Given the description of an element on the screen output the (x, y) to click on. 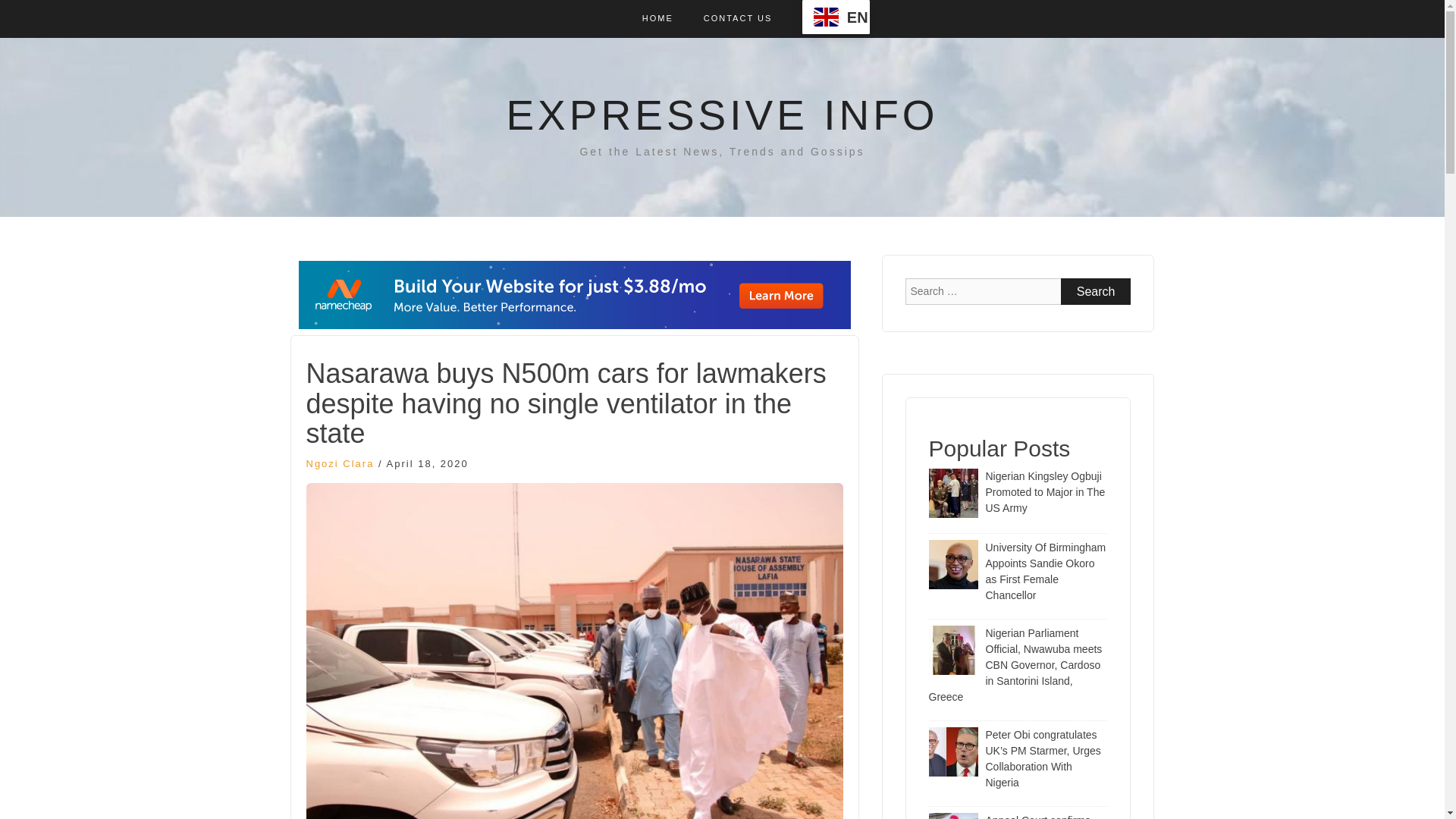
CONTACT US (738, 18)
Search (1096, 291)
Search (1096, 291)
